Given the description of an element on the screen output the (x, y) to click on. 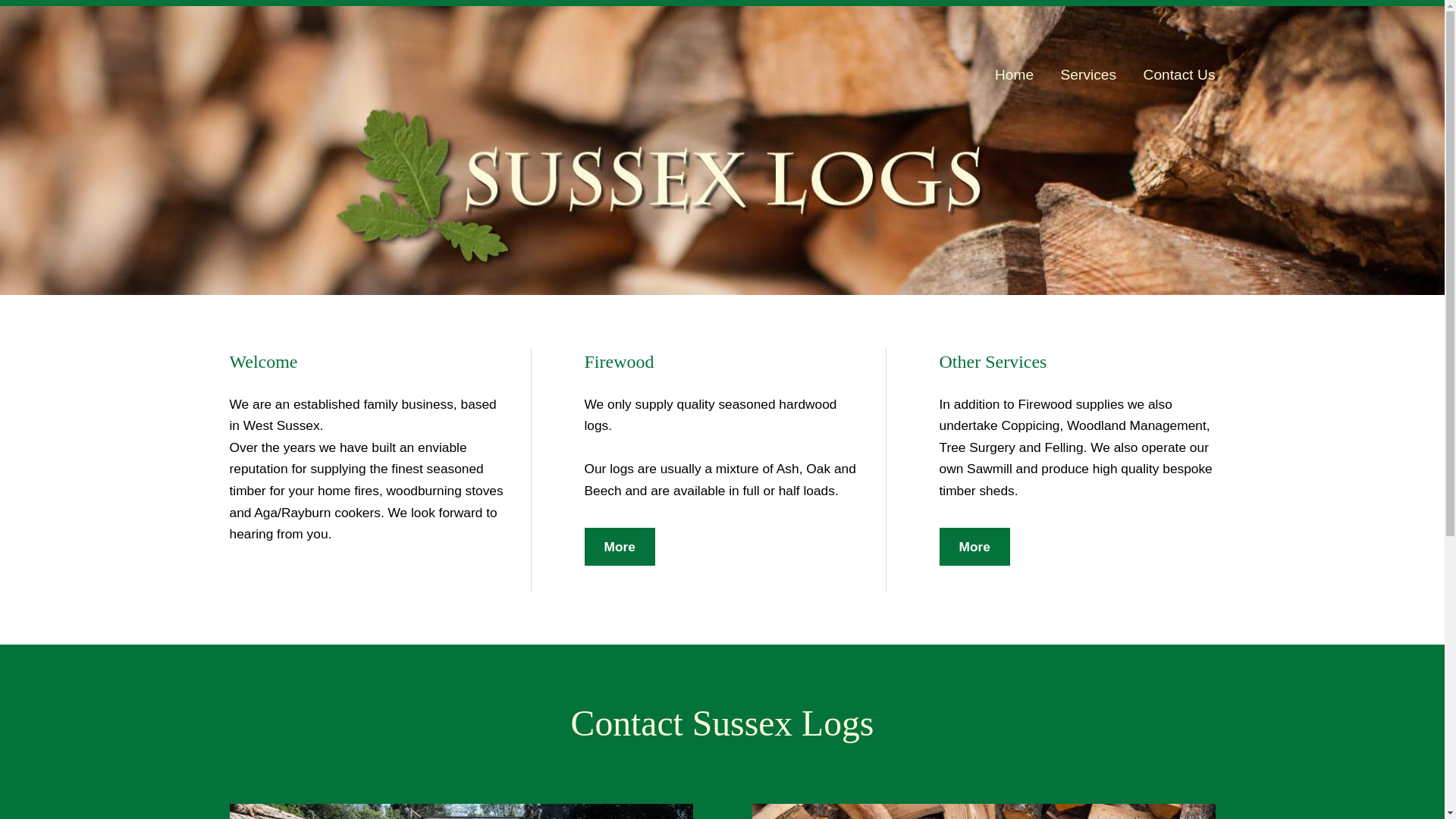
More (618, 546)
Contact Us (1173, 75)
Services (1087, 75)
More (974, 546)
Home (1014, 75)
